Given the description of an element on the screen output the (x, y) to click on. 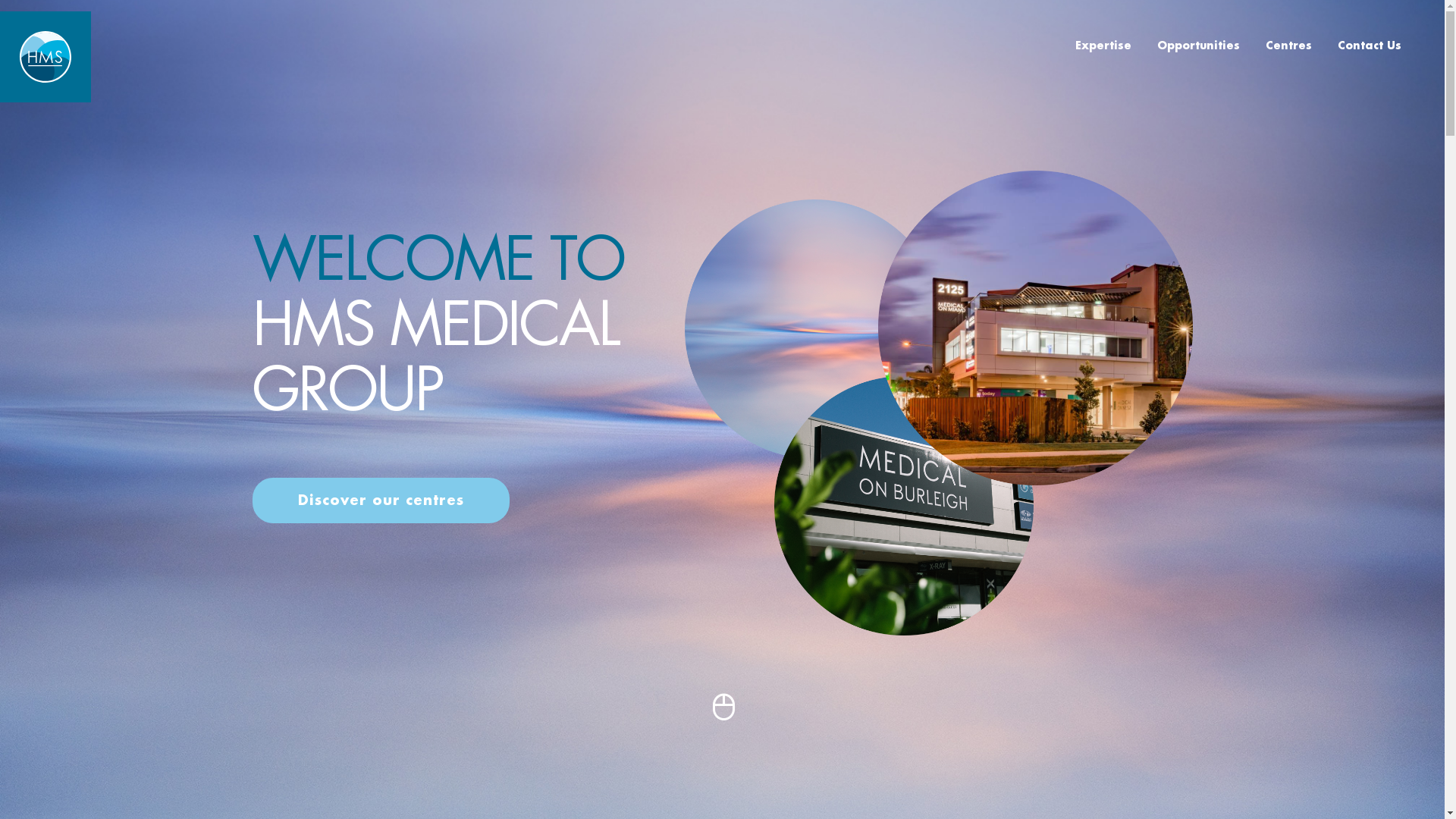
Contact Us Element type: text (1369, 45)
Expertise Element type: text (1103, 45)
Centres Element type: text (1288, 45)
Opportunities Element type: text (1198, 45)
